Given the description of an element on the screen output the (x, y) to click on. 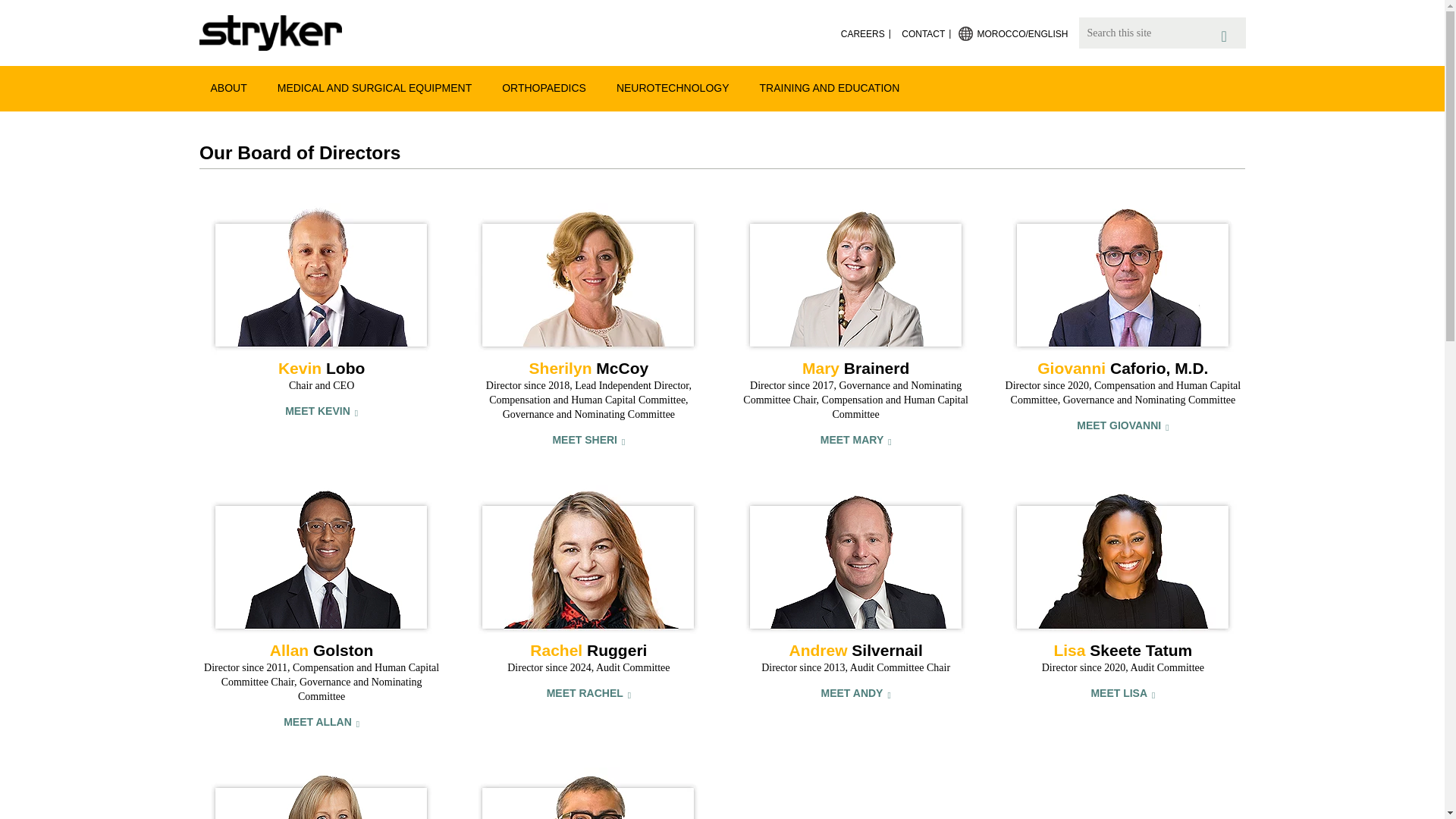
Giovanni Caforio (1122, 278)
NEUROTECHNOLOGY (673, 87)
Lisa Skeete Tatum (1122, 561)
ORTHOPAEDICS (543, 87)
Kevin A. Lobo (321, 278)
Rajeev Suri (587, 793)
Andrew Silvernail (855, 561)
Mary Brainerd (855, 278)
Rachel Ruggeri (587, 561)
Ronda Stryker (321, 793)
Sherilyn McCoy (587, 278)
Allan Golston (321, 561)
MEDICAL AND SURGICAL EQUIPMENT (374, 87)
TRAINING AND EDUCATION (829, 87)
ABOUT (227, 87)
